Given the description of an element on the screen output the (x, y) to click on. 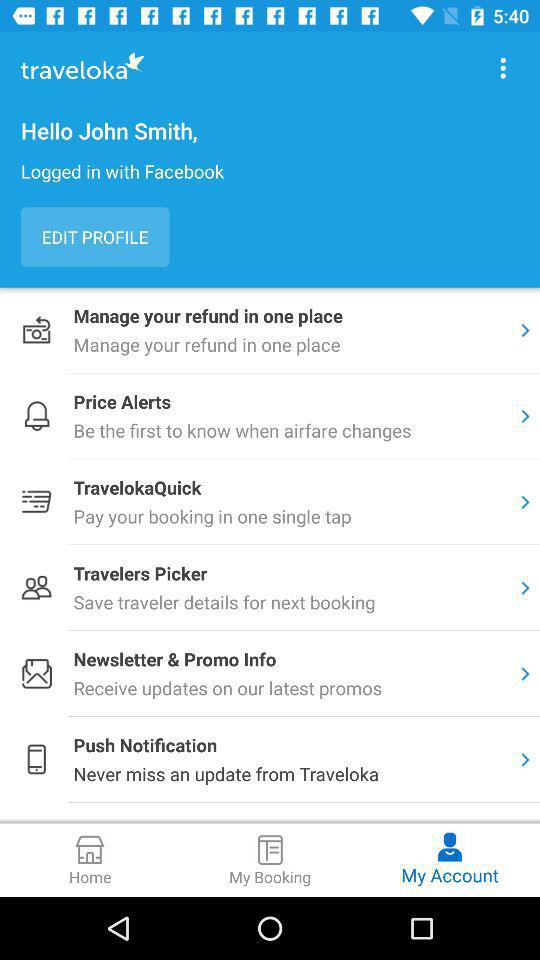
open the icon below the logged in with icon (95, 236)
